Given the description of an element on the screen output the (x, y) to click on. 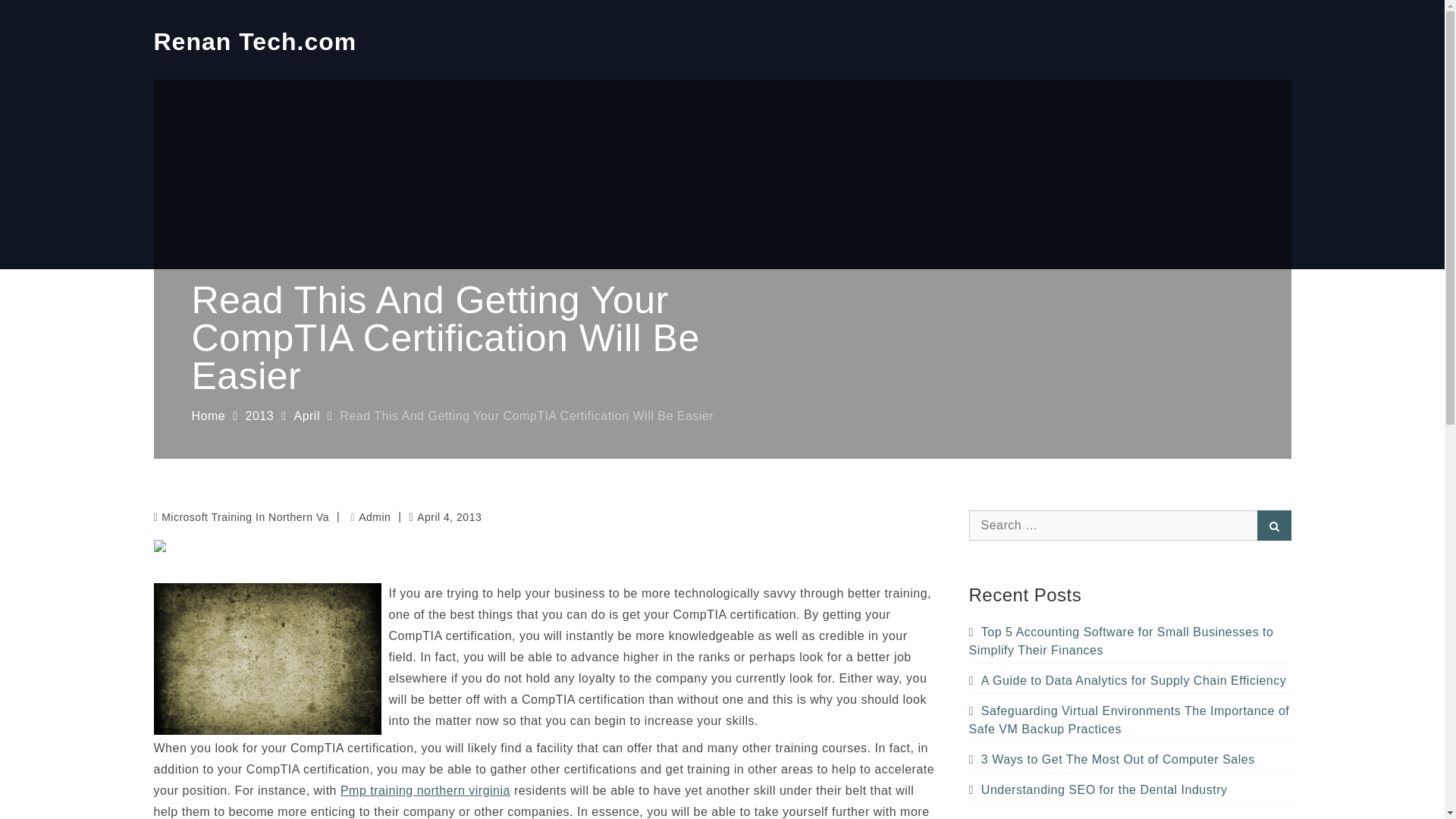
Pmp training northern virginia (425, 789)
A Guide to Data Analytics for Supply Chain Efficiency (1128, 680)
Home (207, 415)
Search (1274, 525)
Renan Tech.com (254, 41)
April (307, 415)
April 4, 2013 (445, 517)
Microsoft Training In Northern Va (245, 517)
Admin (370, 517)
Sharepoint 2010 training, Pmp training northern virginia (425, 789)
2013 (260, 415)
Understanding SEO for the Dental Industry (1098, 789)
3 Ways to Get The Most Out of Computer Sales (1112, 758)
